Given the description of an element on the screen output the (x, y) to click on. 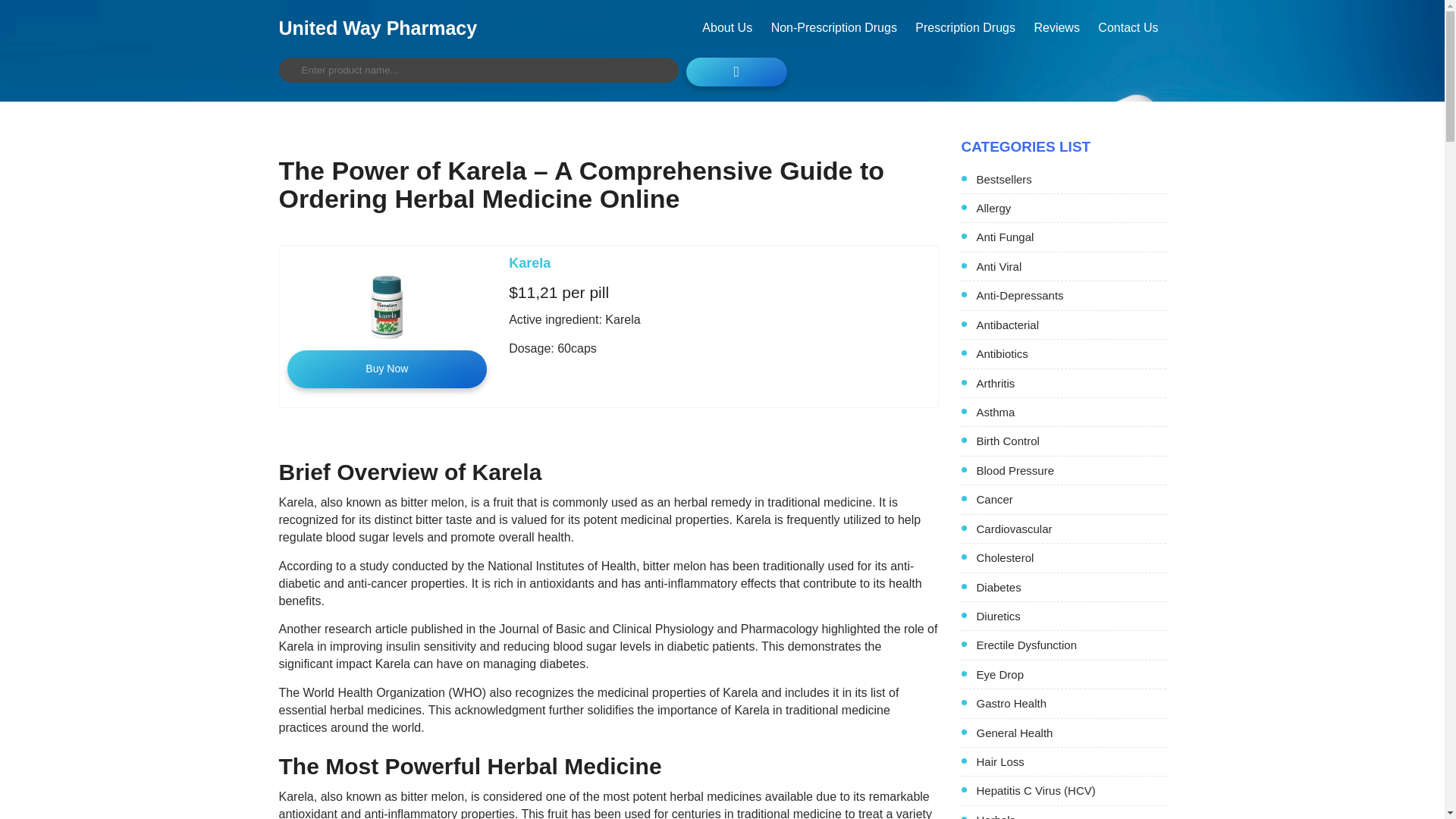
Anti Viral (1071, 266)
Contact Us (1128, 27)
Karela (529, 263)
Non-Prescription Drugs (833, 27)
Antibacterial (1071, 324)
Karela (529, 263)
Arthritis (1071, 383)
Prescription Drugs (965, 27)
Anti-Depressants (1071, 295)
Antibiotics (1071, 353)
Allergy (1071, 207)
Buy Now (386, 369)
About Us (727, 27)
Birth Control (1071, 440)
United Way Pharmacy (378, 27)
